Given the description of an element on the screen output the (x, y) to click on. 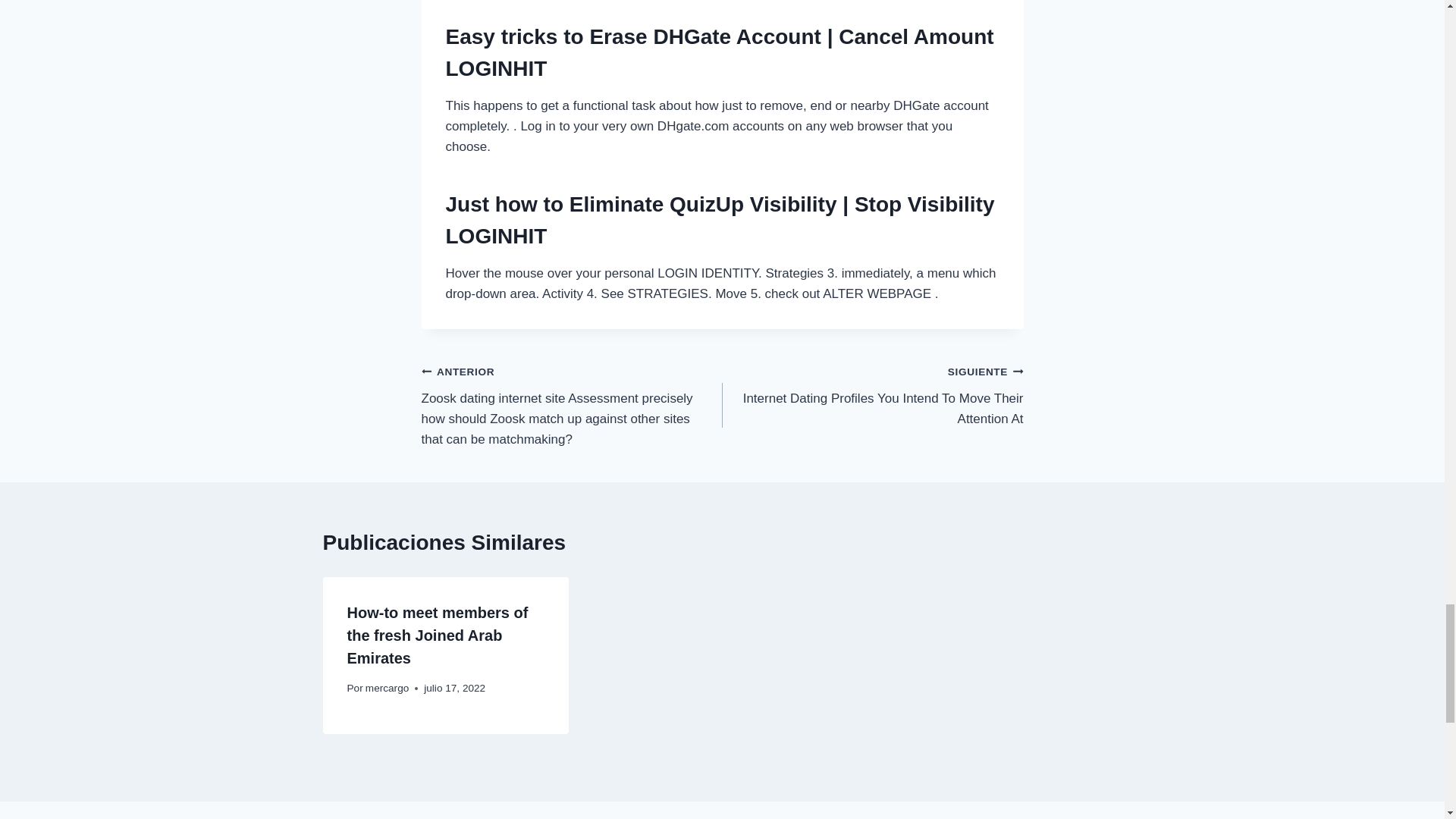
How-to meet members of the fresh Joined Arab Emirates (437, 635)
mercargo (387, 687)
